Given the description of an element on the screen output the (x, y) to click on. 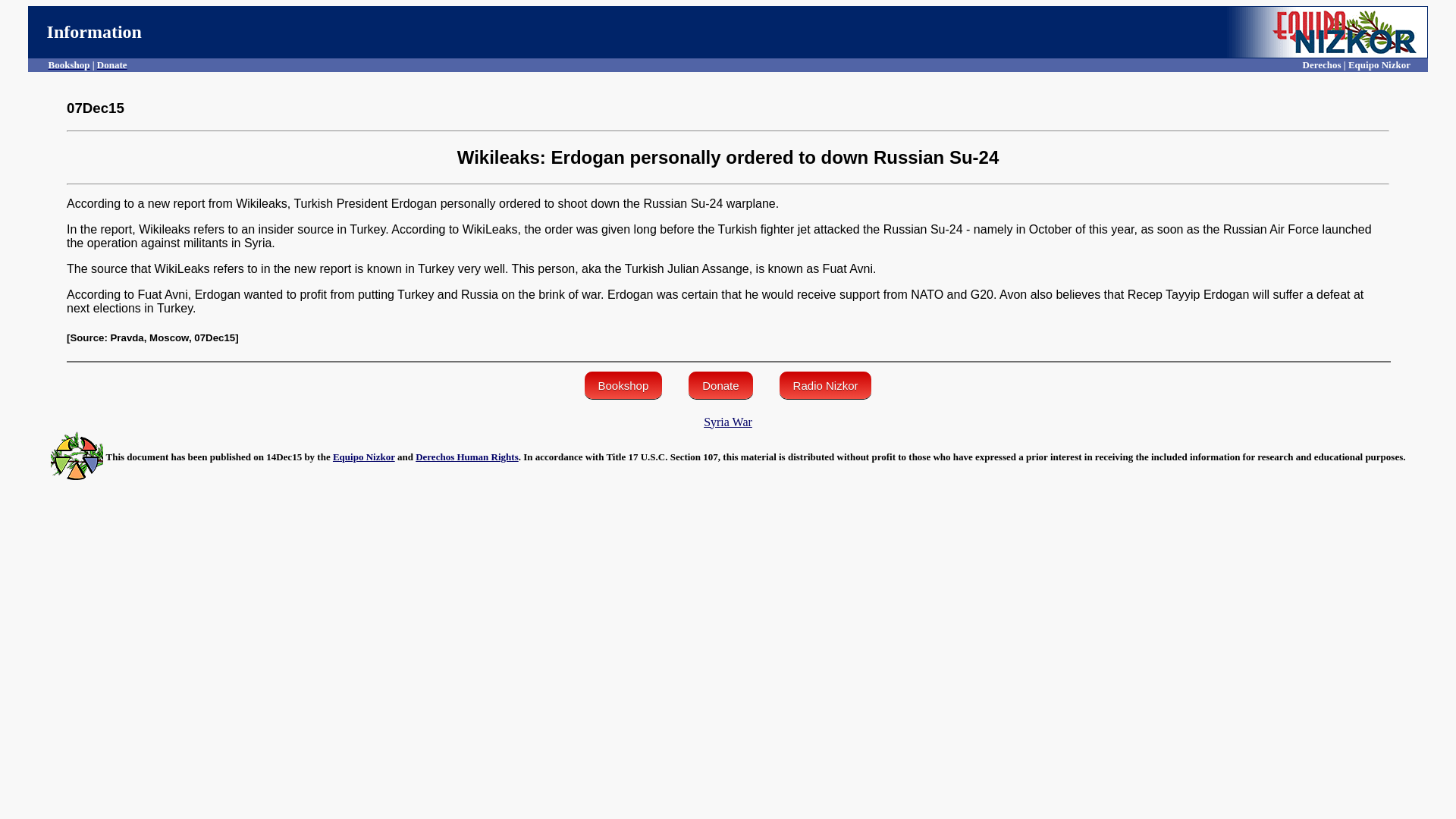
Radio Nizkor (825, 384)
Derechos Human Rights (466, 456)
Syria War (727, 421)
Equipo Nizkor (363, 456)
Donate (112, 64)
Bookshop (69, 64)
Donate (720, 384)
Bookshop (623, 384)
